Given the description of an element on the screen output the (x, y) to click on. 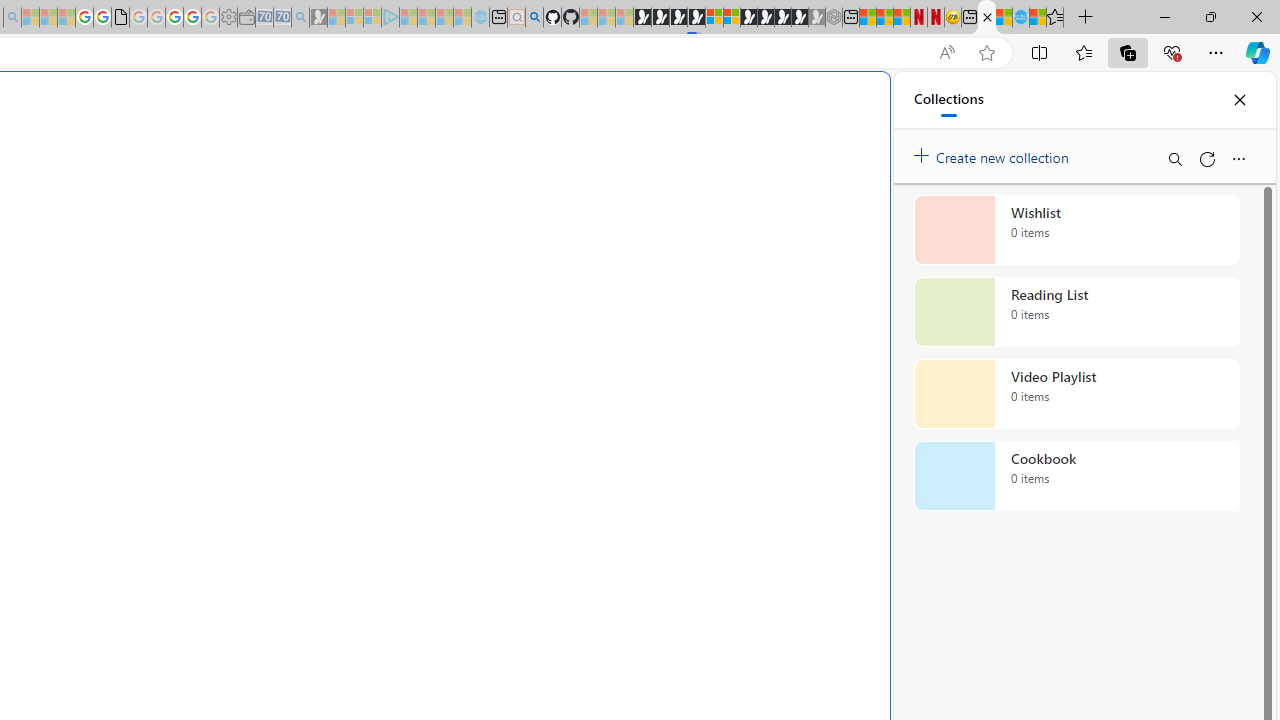
Tabs you've opened (276, 265)
github - Search (534, 17)
Video Playlist collection, 0 items (1076, 394)
More options menu (1238, 158)
